Given the description of an element on the screen output the (x, y) to click on. 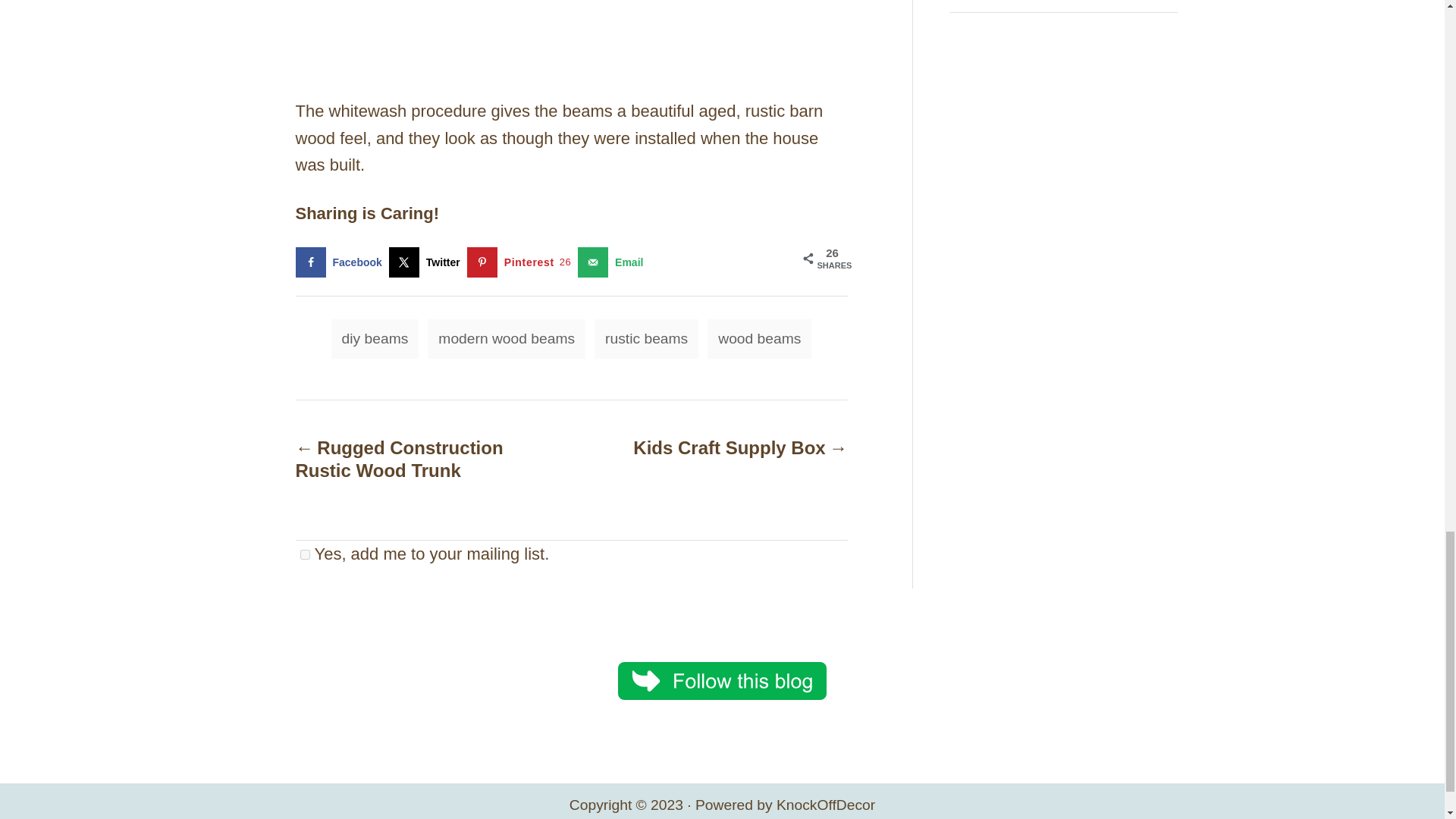
Share on Facebook (341, 262)
Save to Pinterest (522, 262)
1 (304, 553)
Send over email (613, 262)
Share on X (427, 262)
